Given the description of an element on the screen output the (x, y) to click on. 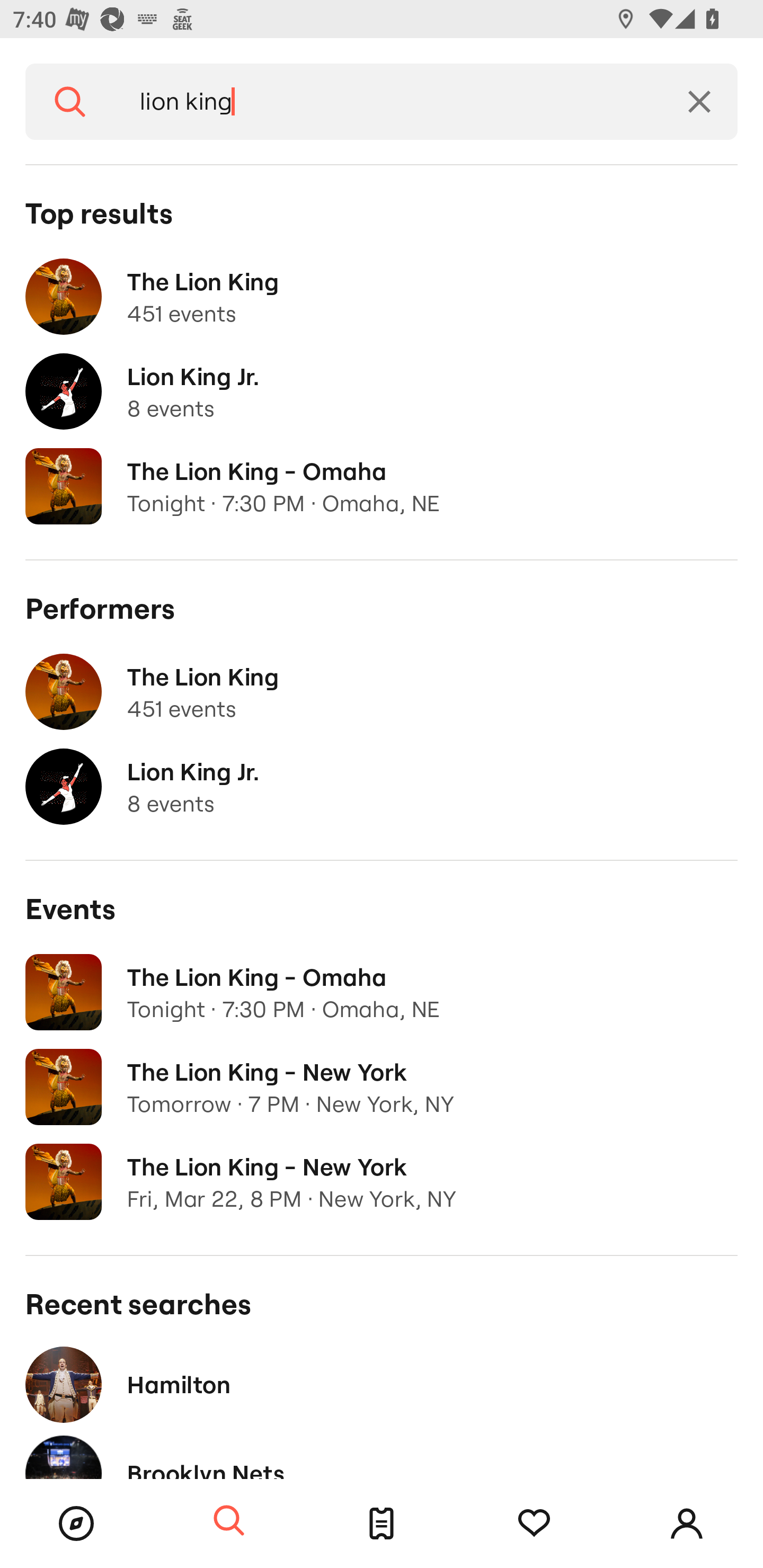
Search (69, 101)
lion king (387, 101)
Clear (699, 101)
The Lion King 451 events (381, 296)
Lion King Jr. 8 events (381, 391)
The Lion King 451 events (381, 692)
Lion King Jr. 8 events (381, 787)
Hamilton (381, 1384)
Browse (76, 1523)
Search (228, 1521)
Tickets (381, 1523)
Tracking (533, 1523)
Account (686, 1523)
